Given the description of an element on the screen output the (x, y) to click on. 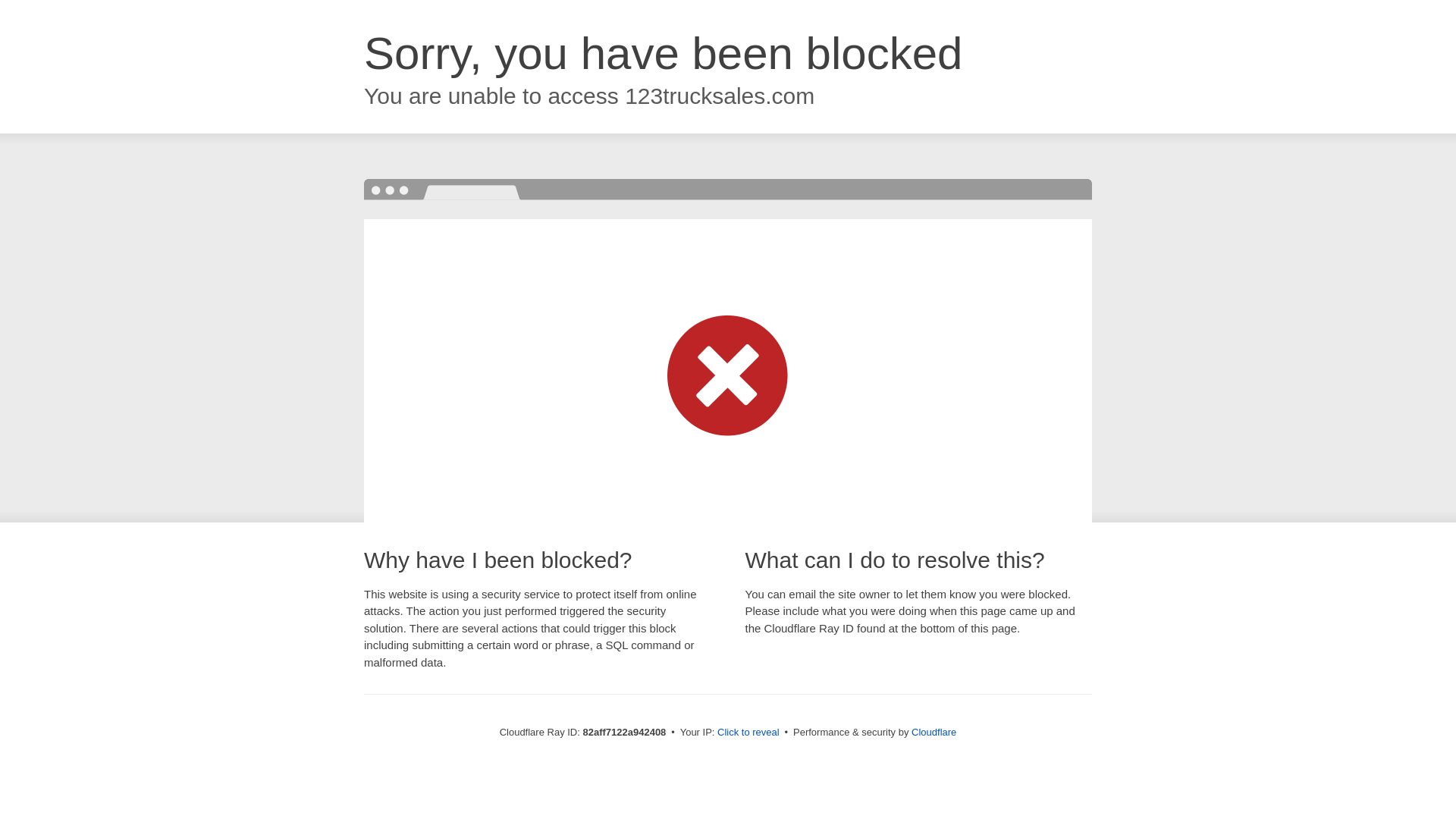
Cloudflare Element type: text (933, 731)
Click to reveal Element type: text (748, 732)
